Given the description of an element on the screen output the (x, y) to click on. 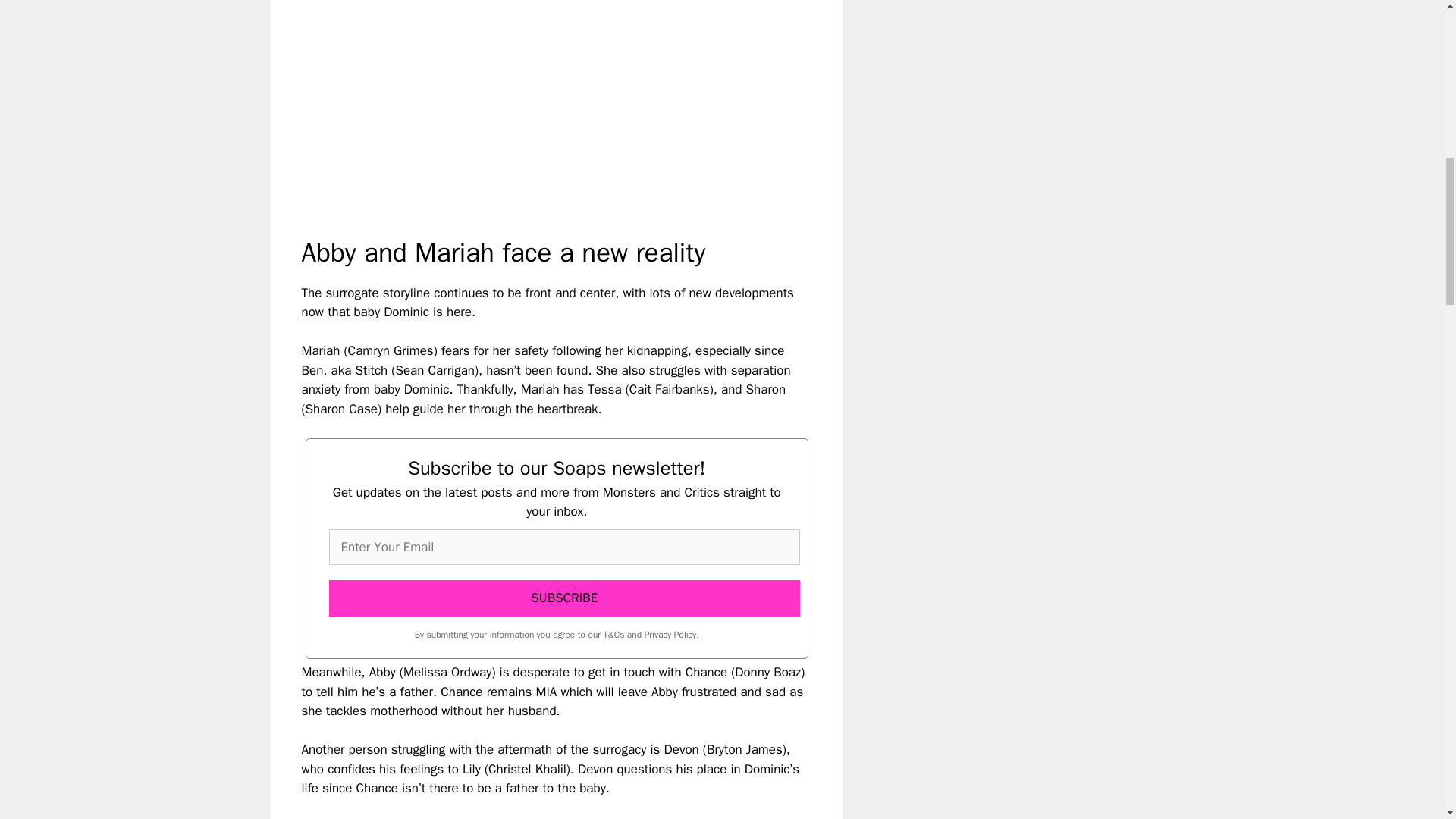
SUBSCRIBE (564, 597)
SUBSCRIBE (564, 597)
YouTube video player (513, 105)
